Given the description of an element on the screen output the (x, y) to click on. 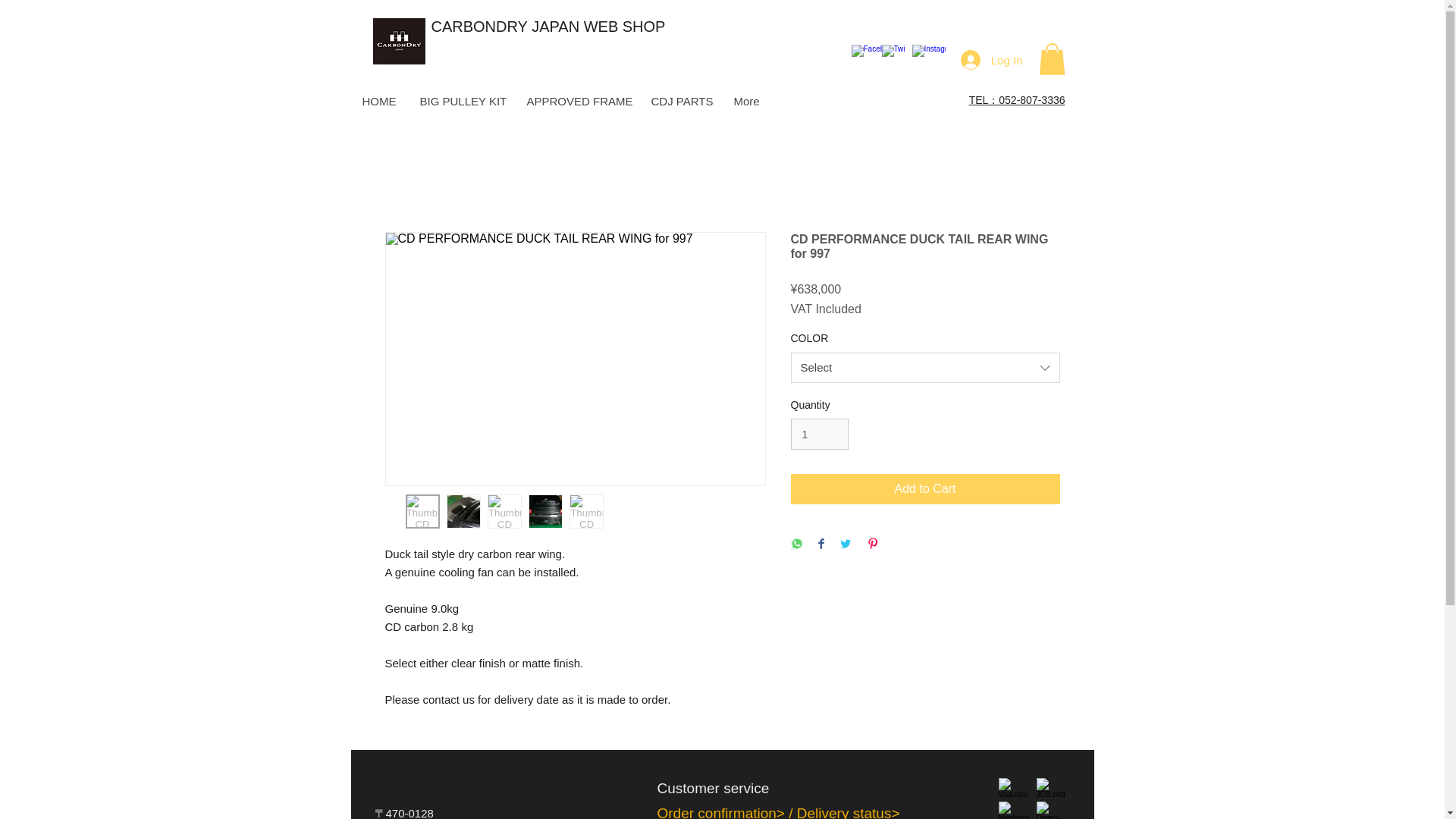
BIG PULLEY KIT (461, 101)
CDJ PARTS (679, 101)
HOME (378, 101)
Log In (991, 59)
APPROVED FRAME (576, 101)
1 (818, 433)
